Given the description of an element on the screen output the (x, y) to click on. 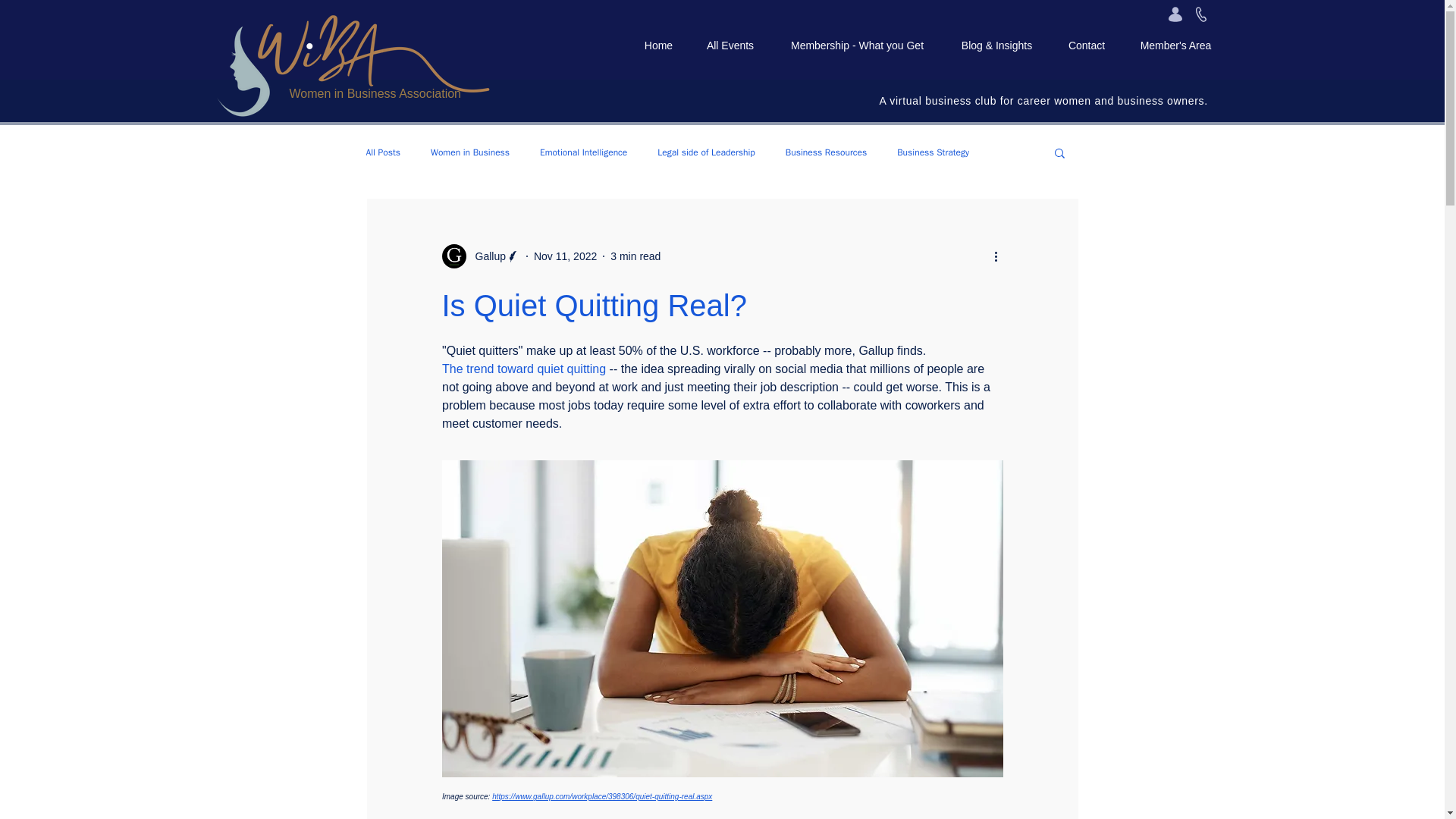
Business Resources (826, 151)
All Events (729, 45)
All Posts (382, 151)
Women in Business (469, 151)
Member's Area (1175, 45)
Gallup (485, 256)
Business Strategy (932, 151)
Membership - What you Get (857, 45)
Home (657, 45)
Legal side of Leadership (706, 151)
Contact (1086, 45)
Gallup (480, 256)
3 min read (635, 256)
Emotional Intelligence (583, 151)
Nov 11, 2022 (565, 256)
